Given the description of an element on the screen output the (x, y) to click on. 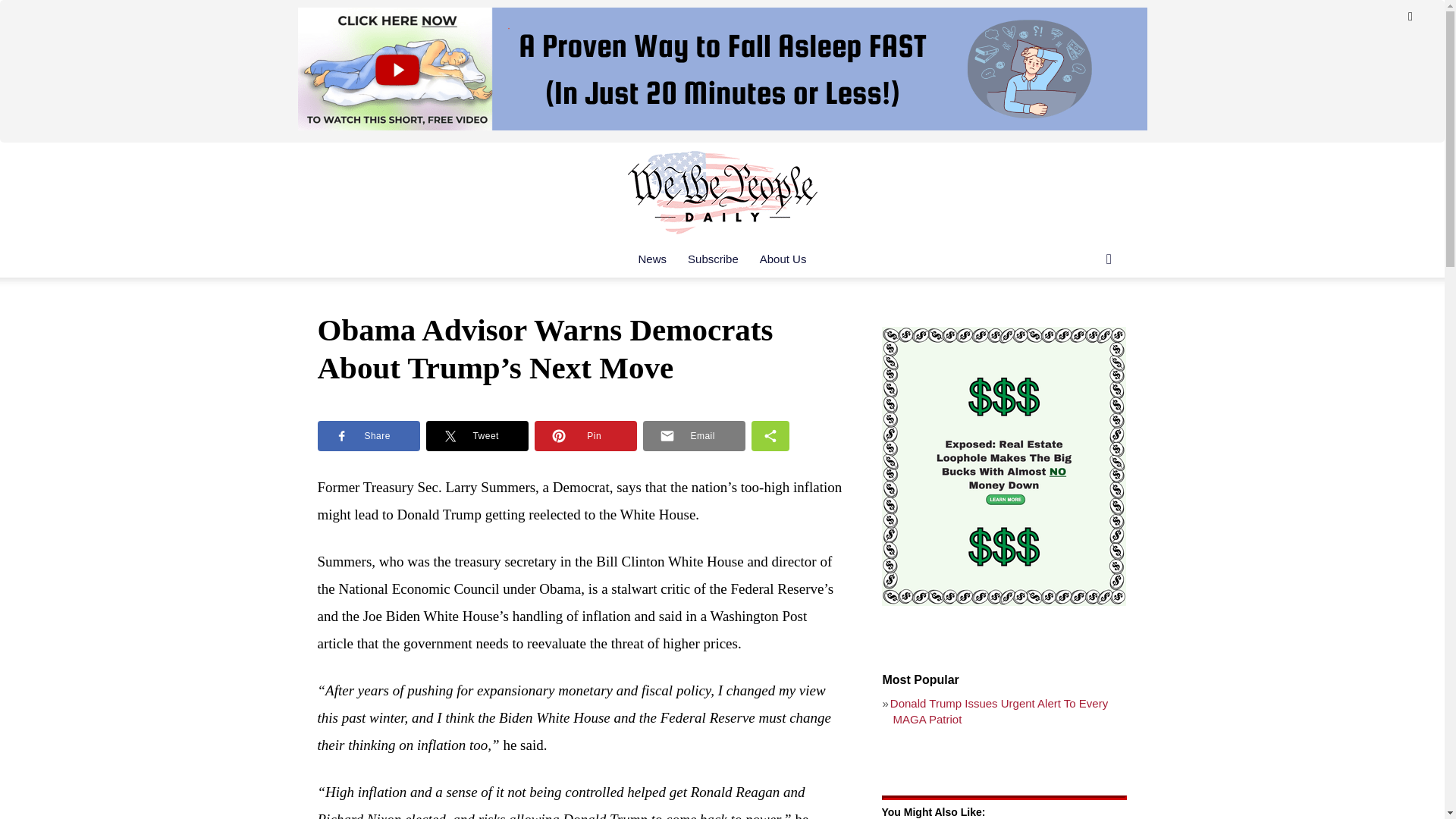
We The People Daily (721, 192)
Subscribe (713, 258)
Search (1085, 319)
News (652, 258)
About Us (782, 258)
